Given the description of an element on the screen output the (x, y) to click on. 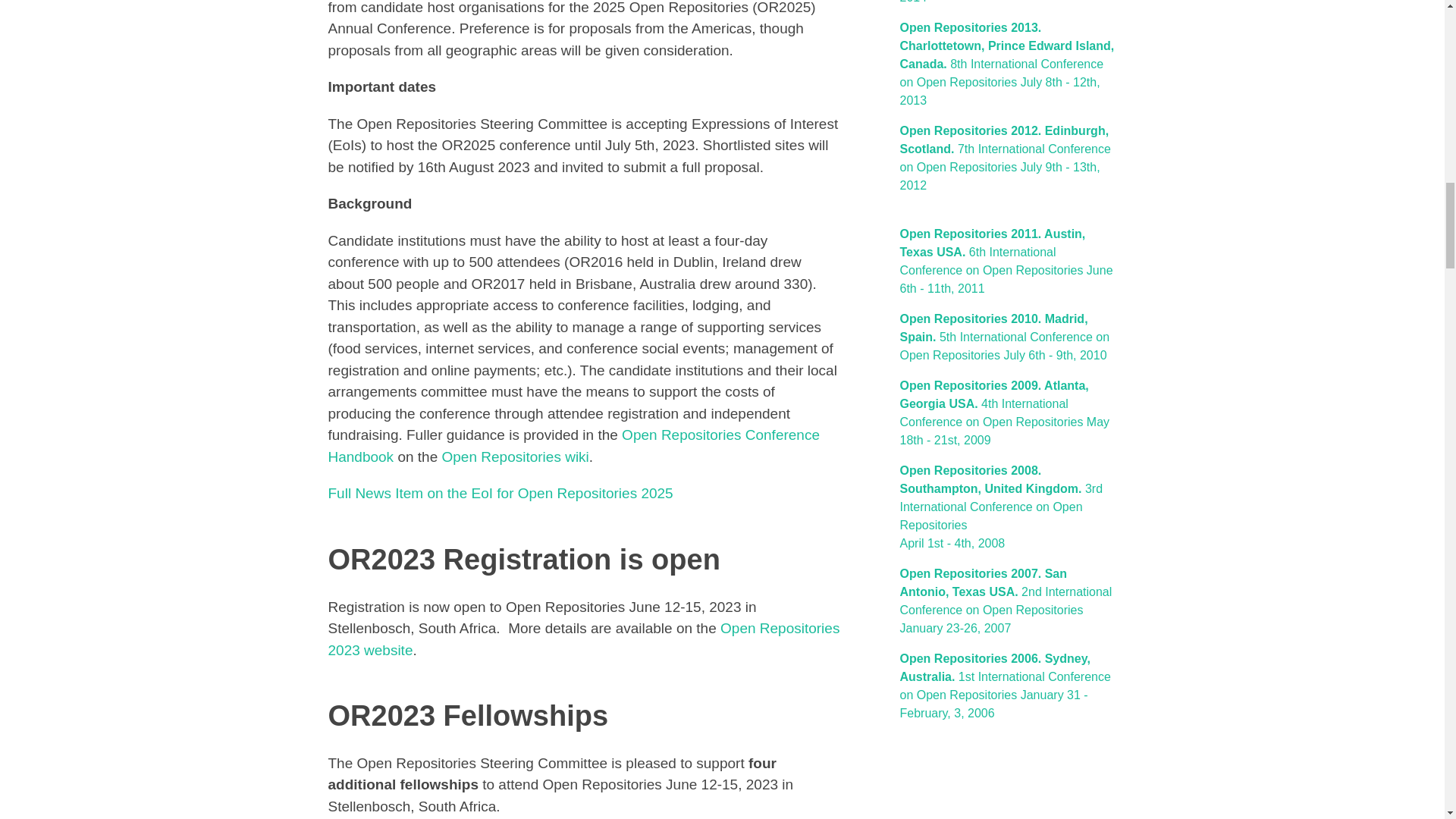
Open Repositories Conference Handbook (573, 445)
Open Repositories 2023 website (583, 638)
Full News Item on the EoI for Open Repositories 2025 (499, 493)
Open Repositories wiki (515, 456)
